Given the description of an element on the screen output the (x, y) to click on. 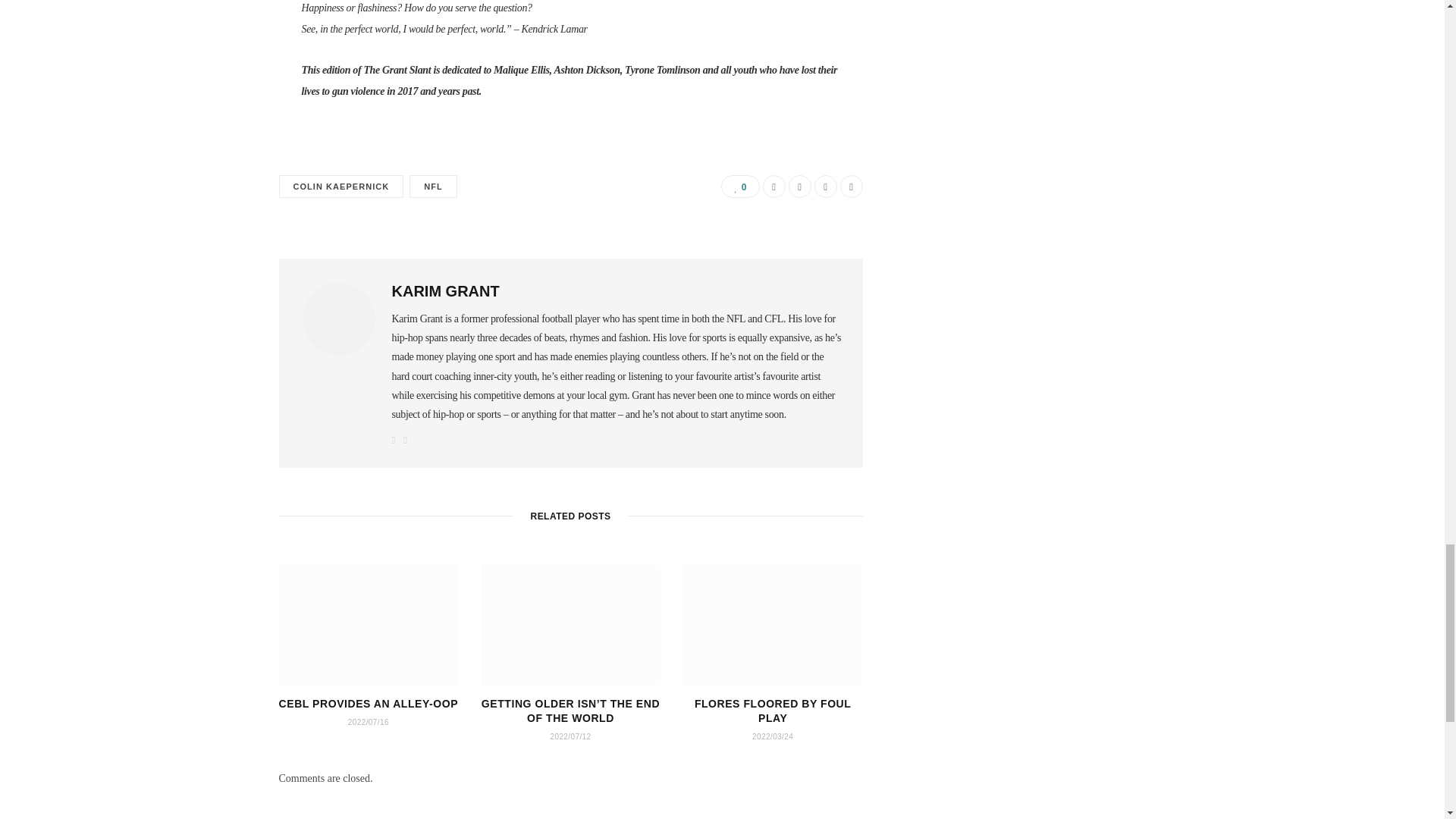
Facebook (774, 186)
Twitter (799, 186)
cebl provides an alley-oop (368, 624)
Pinterest (825, 186)
Posts by Karim Grant (445, 291)
Email (851, 186)
